Given the description of an element on the screen output the (x, y) to click on. 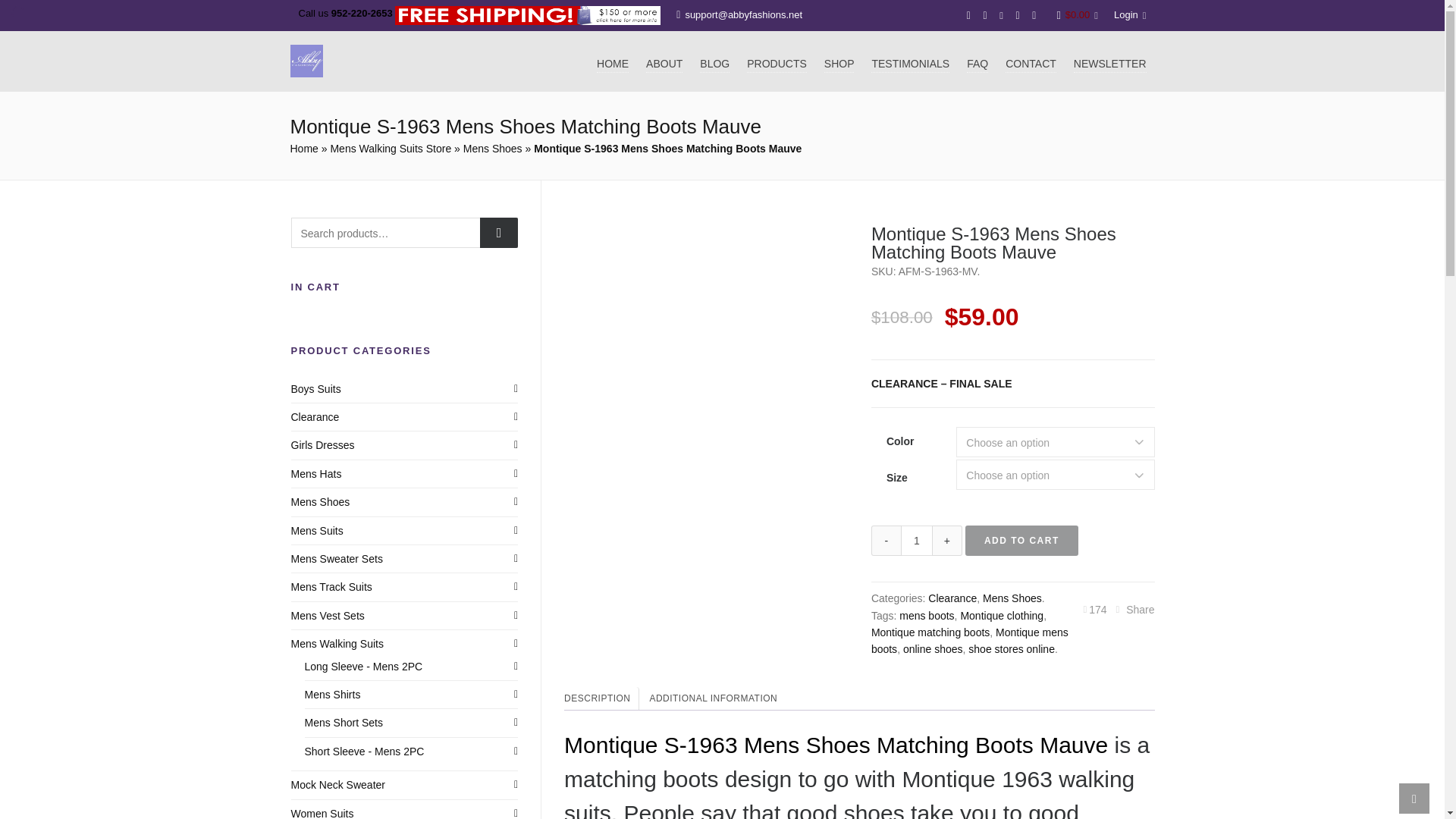
Home (303, 148)
PRODUCTS (776, 61)
CONTACT (1030, 61)
Clearance (952, 598)
ADD TO CART (1021, 540)
- (885, 540)
Mens Shoes (492, 148)
1 (916, 540)
NEWSLETTER (1109, 61)
